Given the description of an element on the screen output the (x, y) to click on. 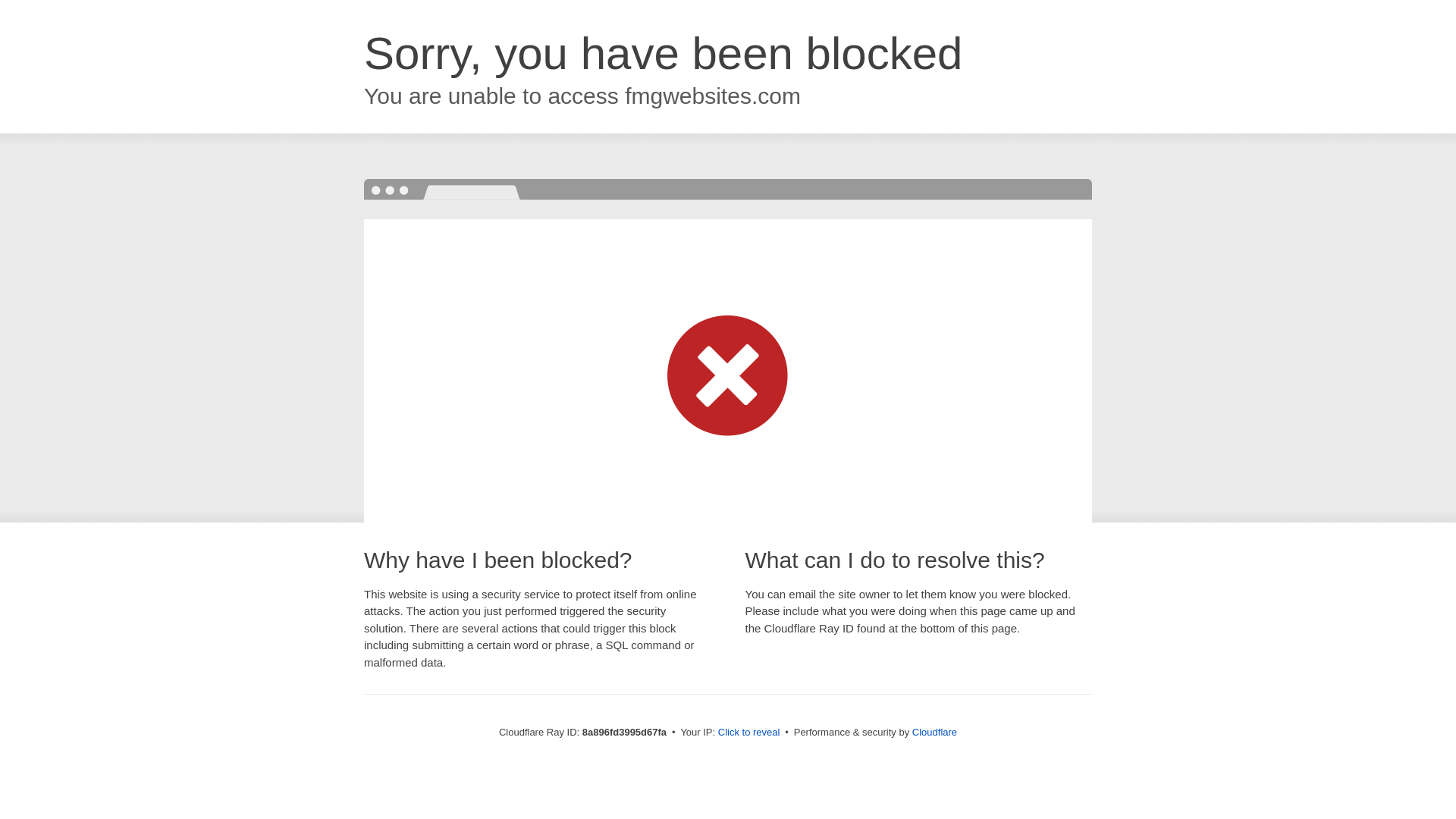
Cloudflare (934, 731)
Click to reveal (748, 732)
